Given the description of an element on the screen output the (x, y) to click on. 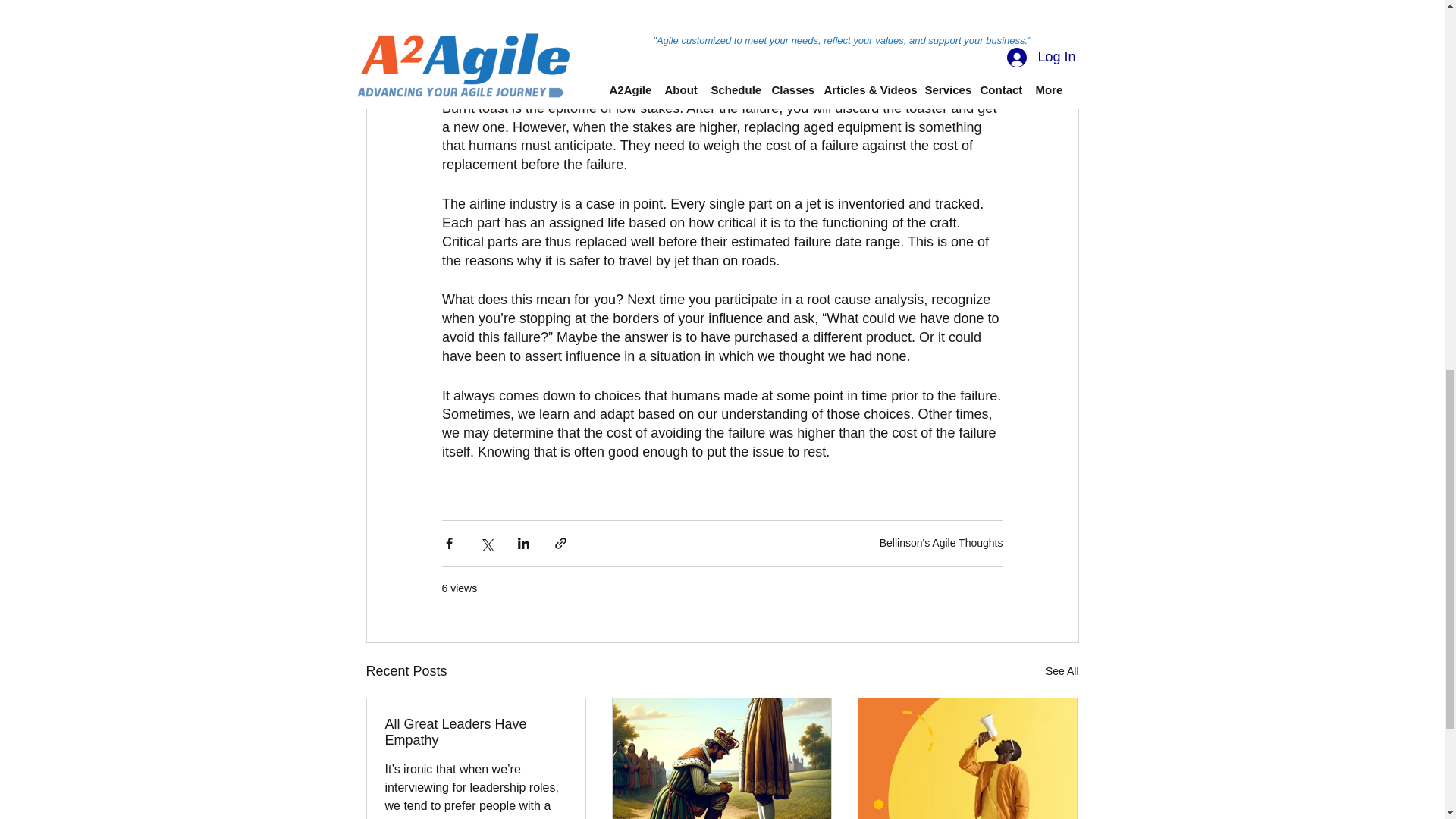
Bellinson's Agile Thoughts (941, 542)
All Great Leaders Have Empathy (476, 732)
See All (1061, 671)
